Given the description of an element on the screen output the (x, y) to click on. 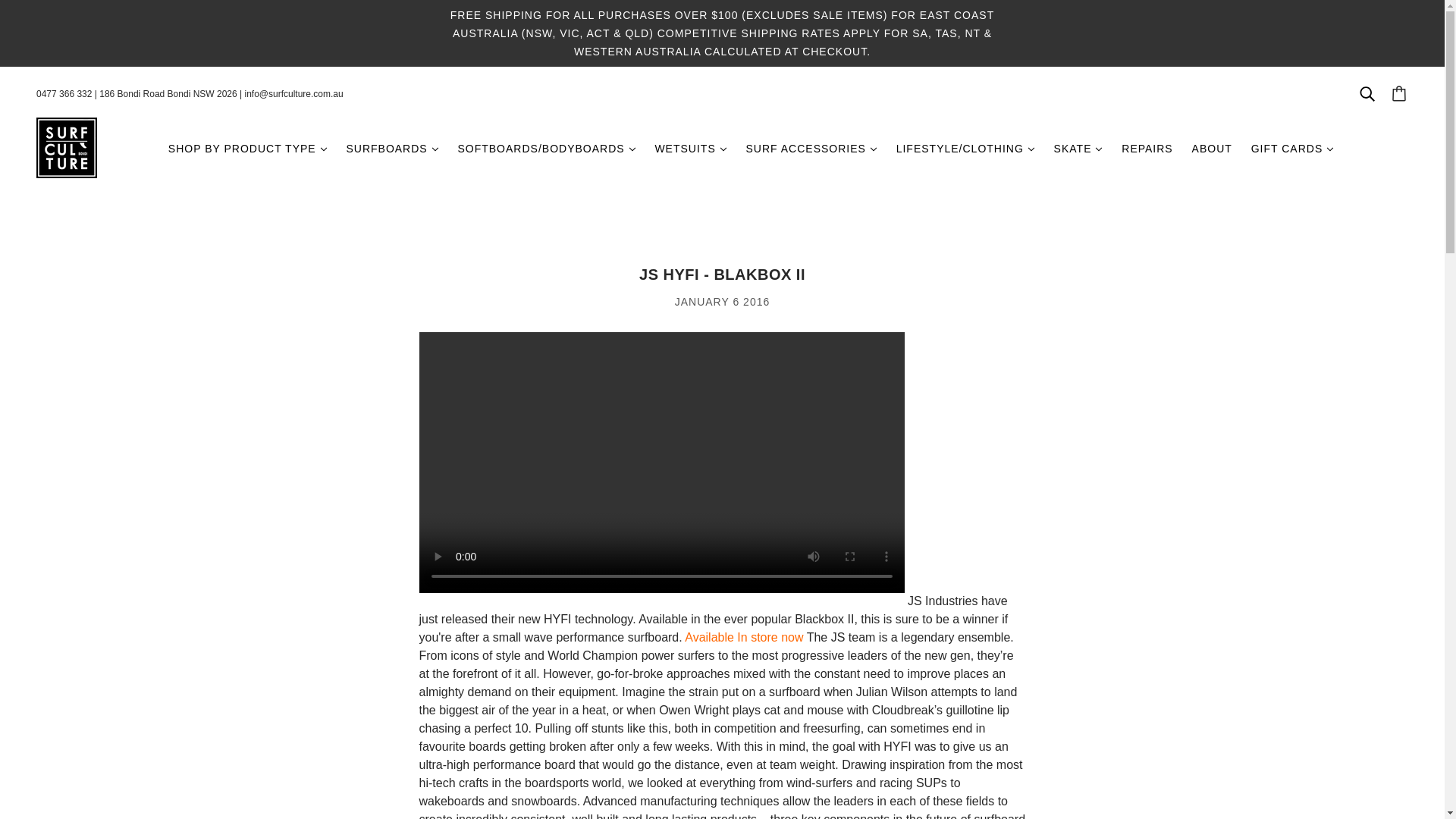
Surf Culture Bondi (66, 146)
